Given the description of an element on the screen output the (x, y) to click on. 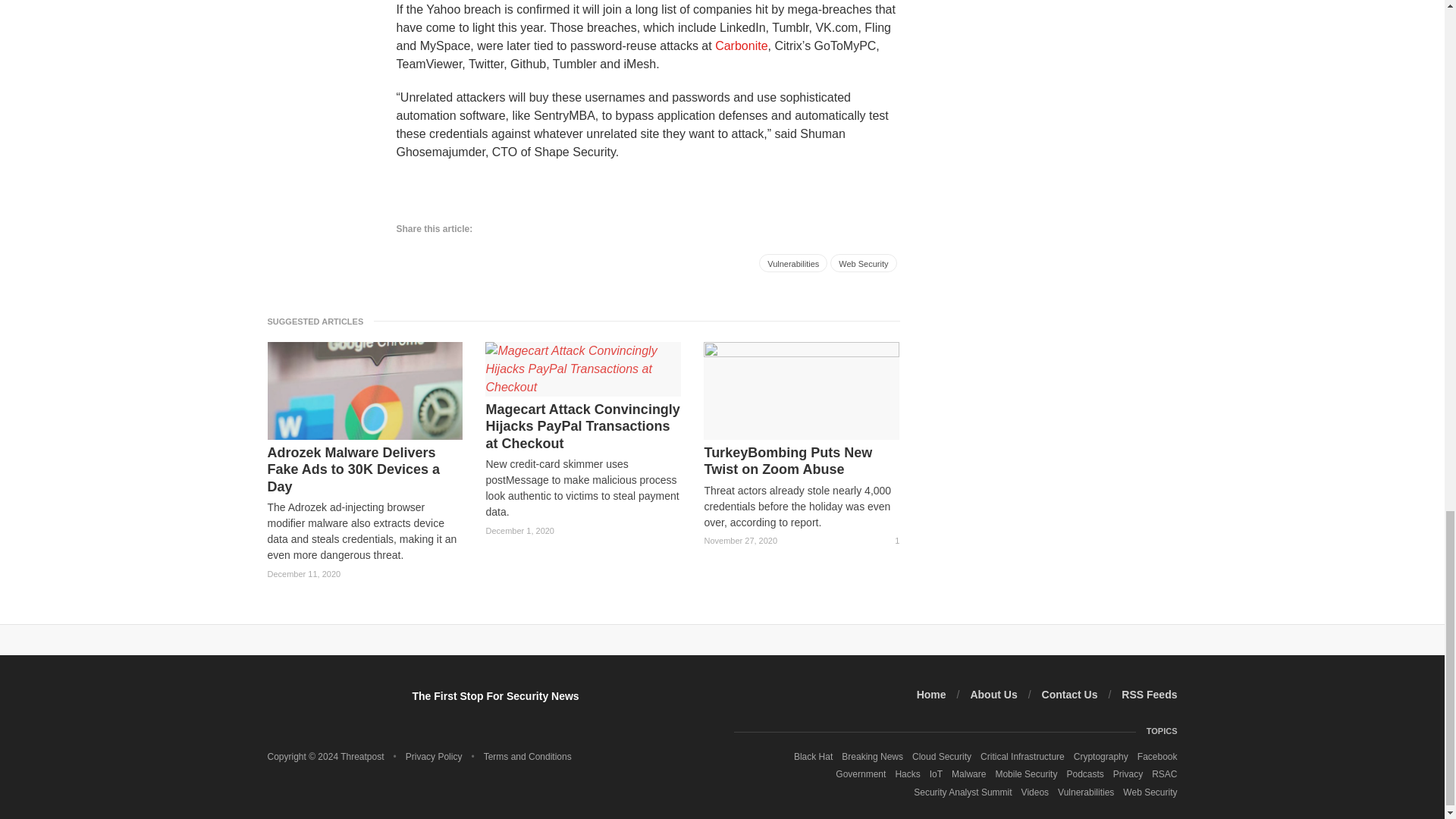
Vulnerabilities (792, 262)
Carbonite (740, 45)
SUGGESTED ARTICLES (319, 320)
1 (889, 540)
TurkeyBombing Puts New Twist on Zoom Abuse (801, 461)
Web Security (862, 262)
Adrozek Malware Delivers Fake Ads to 30K Devices a Day (364, 470)
